Given the description of an element on the screen output the (x, y) to click on. 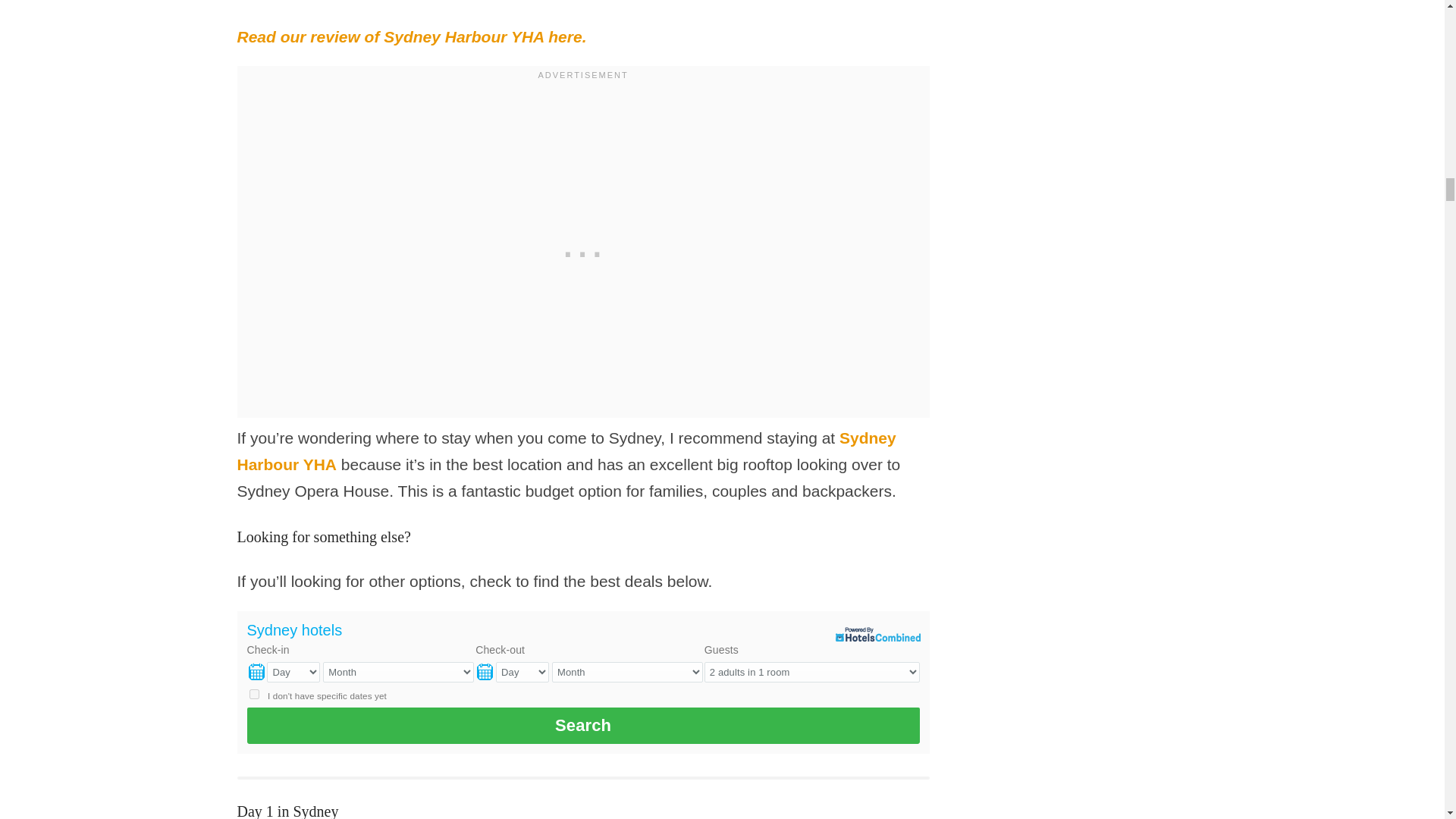
on (253, 694)
